Given the description of an element on the screen output the (x, y) to click on. 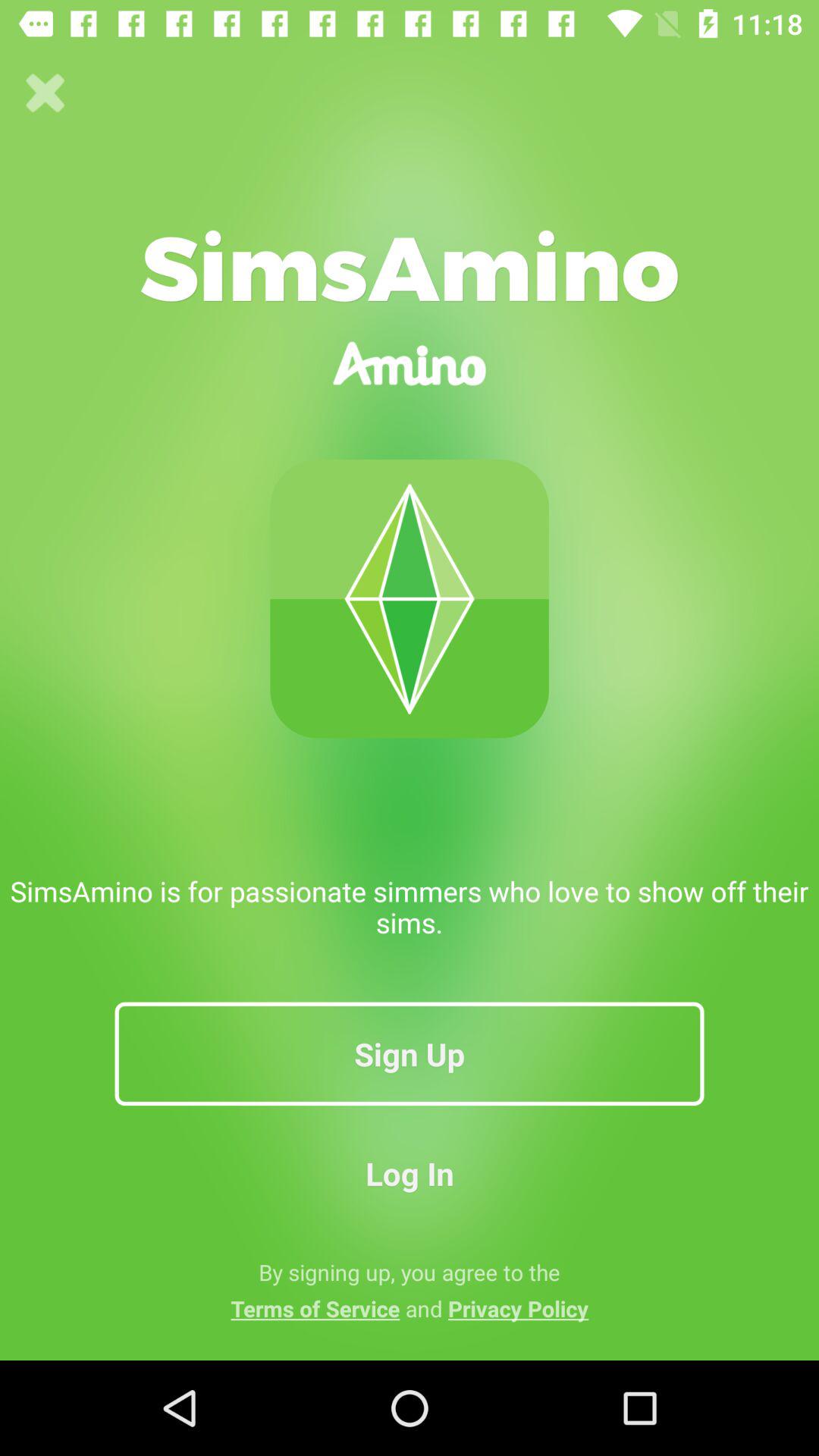
close button (45, 93)
